Given the description of an element on the screen output the (x, y) to click on. 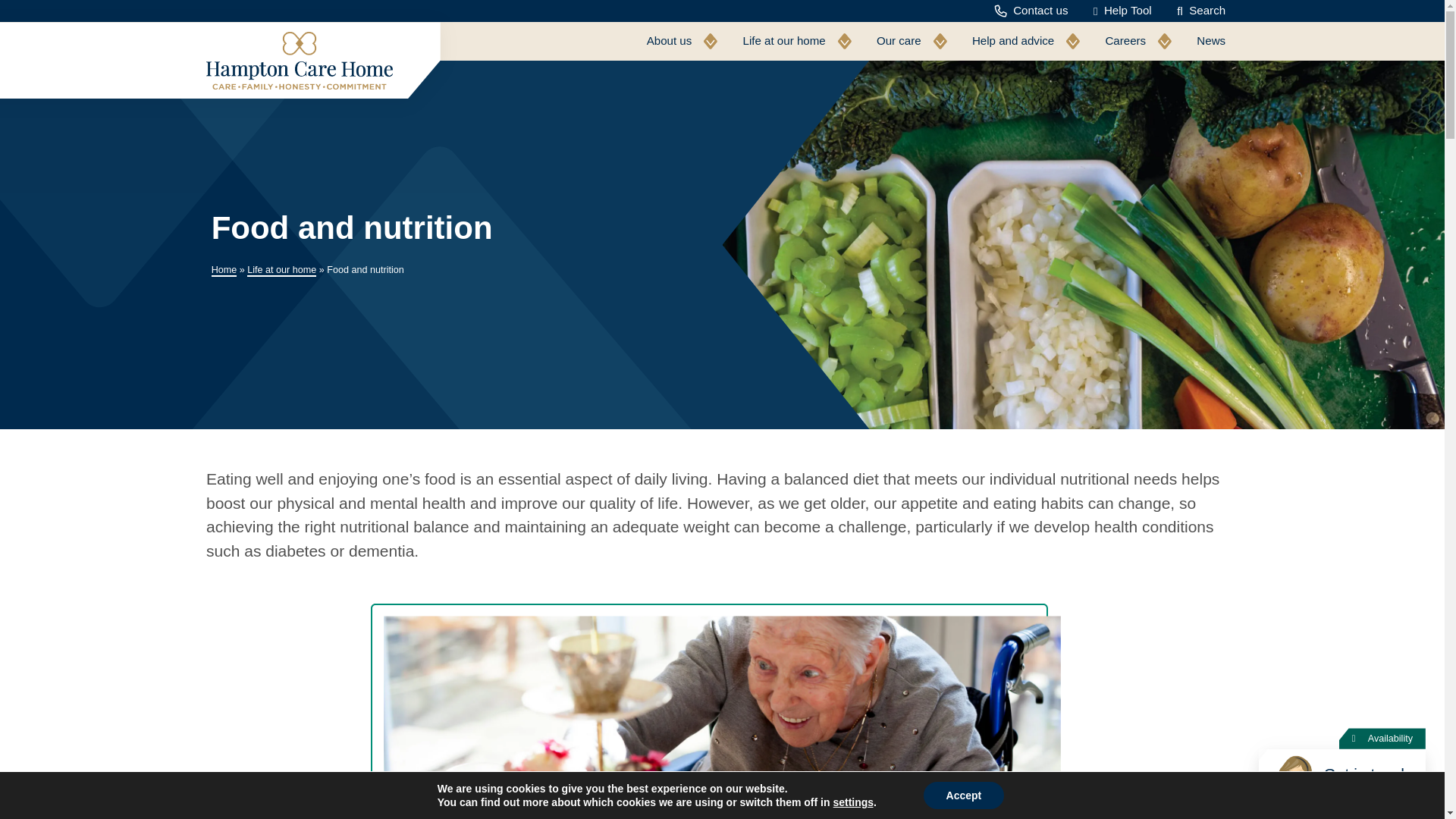
Life at our home (796, 40)
Our care (911, 40)
Search (1200, 11)
Help Tool (1121, 11)
Contact us (1030, 11)
Help and advice (1026, 40)
About us (681, 40)
